Given the description of an element on the screen output the (x, y) to click on. 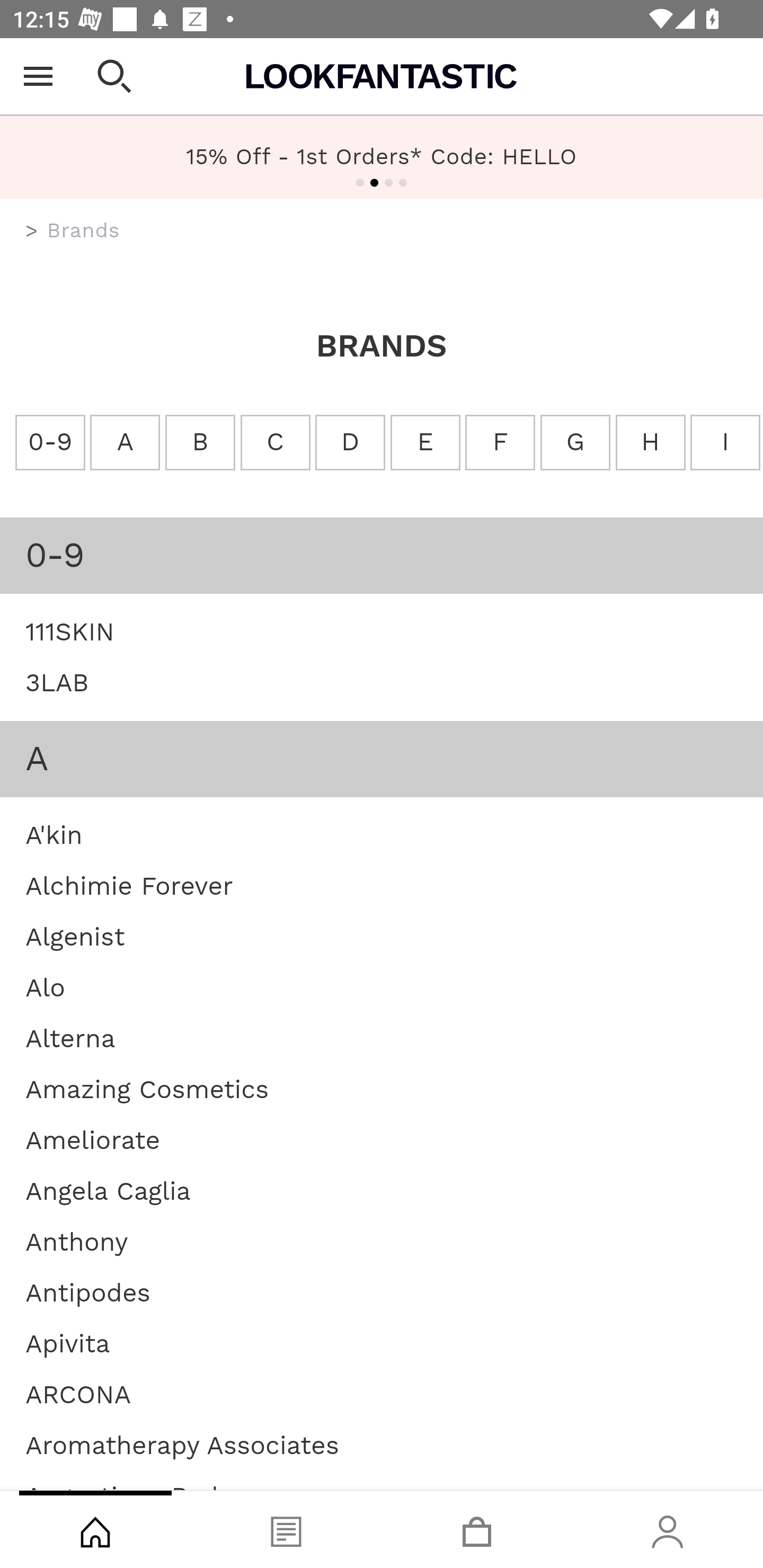
Open Menu (38, 75)
Open search (114, 75)
Lookfantastic USA (381, 75)
us.lookfantastic (32, 230)
0-9 (49, 443)
A (124, 443)
B (199, 443)
C (275, 443)
D (350, 443)
E (424, 443)
F (499, 443)
G (574, 443)
H (650, 443)
I (725, 443)
111SKIN (69, 630)
3LAB (57, 681)
A'kin (53, 833)
Alchimie Forever (129, 884)
Algenist (75, 935)
Alo (46, 986)
Alterna (70, 1037)
Amazing Cosmetics (147, 1087)
Ameliorate (92, 1139)
Angela Caglia (108, 1189)
Anthony (76, 1240)
Antipodes (88, 1291)
Apivita (68, 1342)
ARCONA (78, 1393)
Aromatherapy Associates (182, 1443)
Shop, tab, 1 of 4 (95, 1529)
Blog, tab, 2 of 4 (285, 1529)
Basket, tab, 3 of 4 (476, 1529)
Account, tab, 4 of 4 (667, 1529)
